Given the description of an element on the screen output the (x, y) to click on. 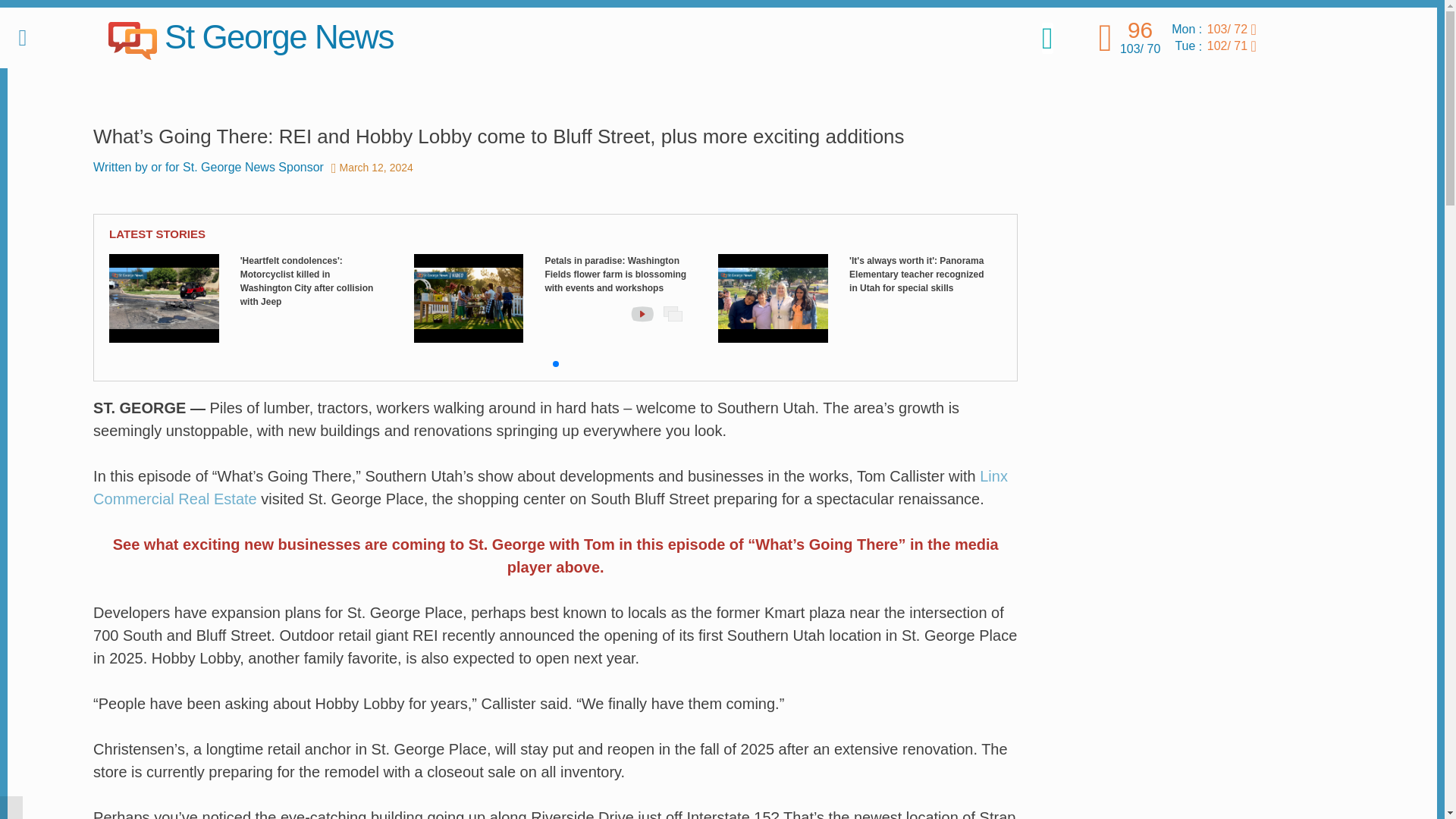
or for St. George News Sponsor (237, 166)
St George News (250, 38)
WeatherWidget (1309, 37)
Linx Commercial Real Estate (550, 486)
